Given the description of an element on the screen output the (x, y) to click on. 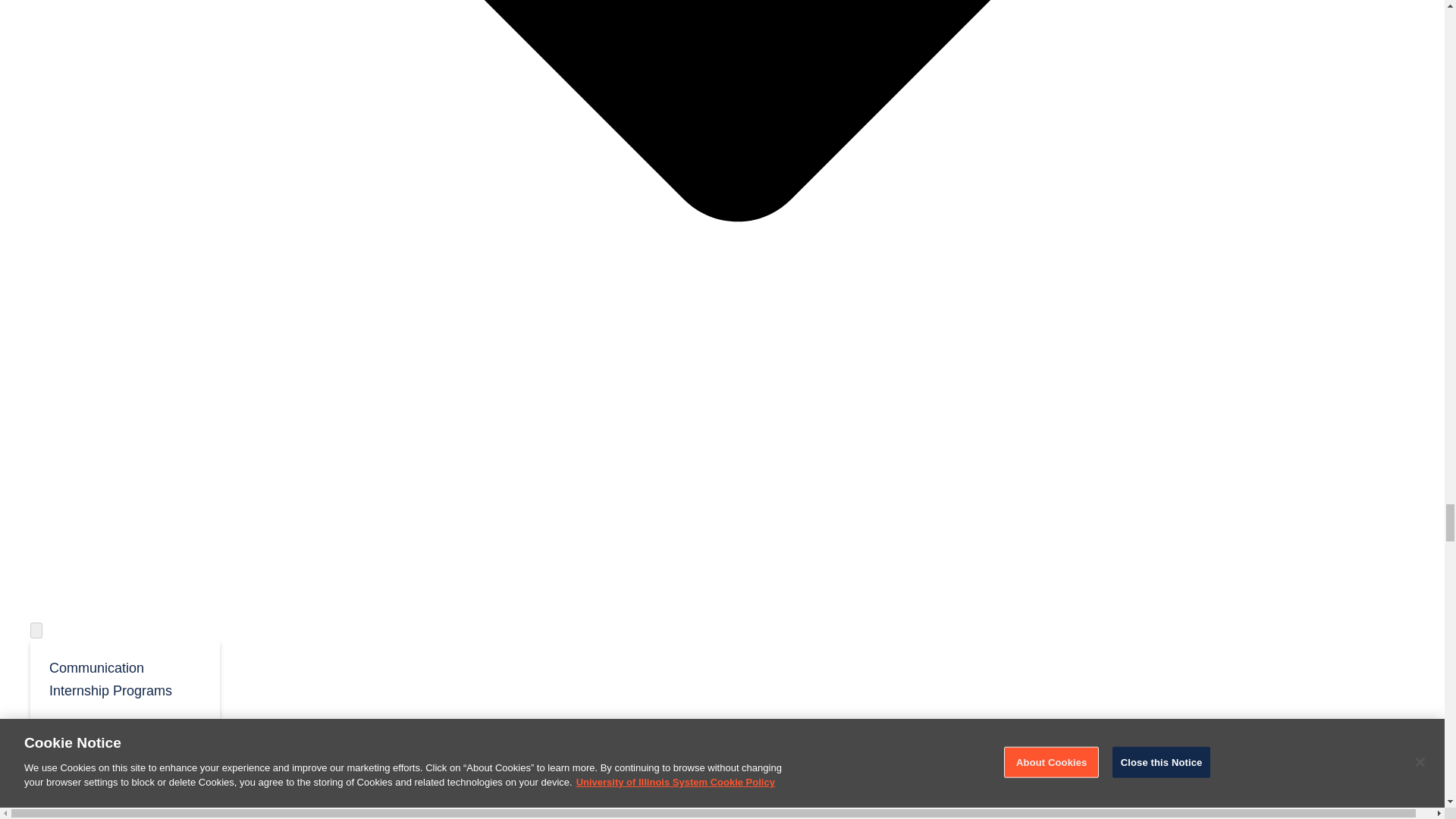
Communication Internship Programs (125, 678)
Department News (125, 786)
Upcoming Events (125, 812)
Careers in Communication (125, 738)
